Given the description of an element on the screen output the (x, y) to click on. 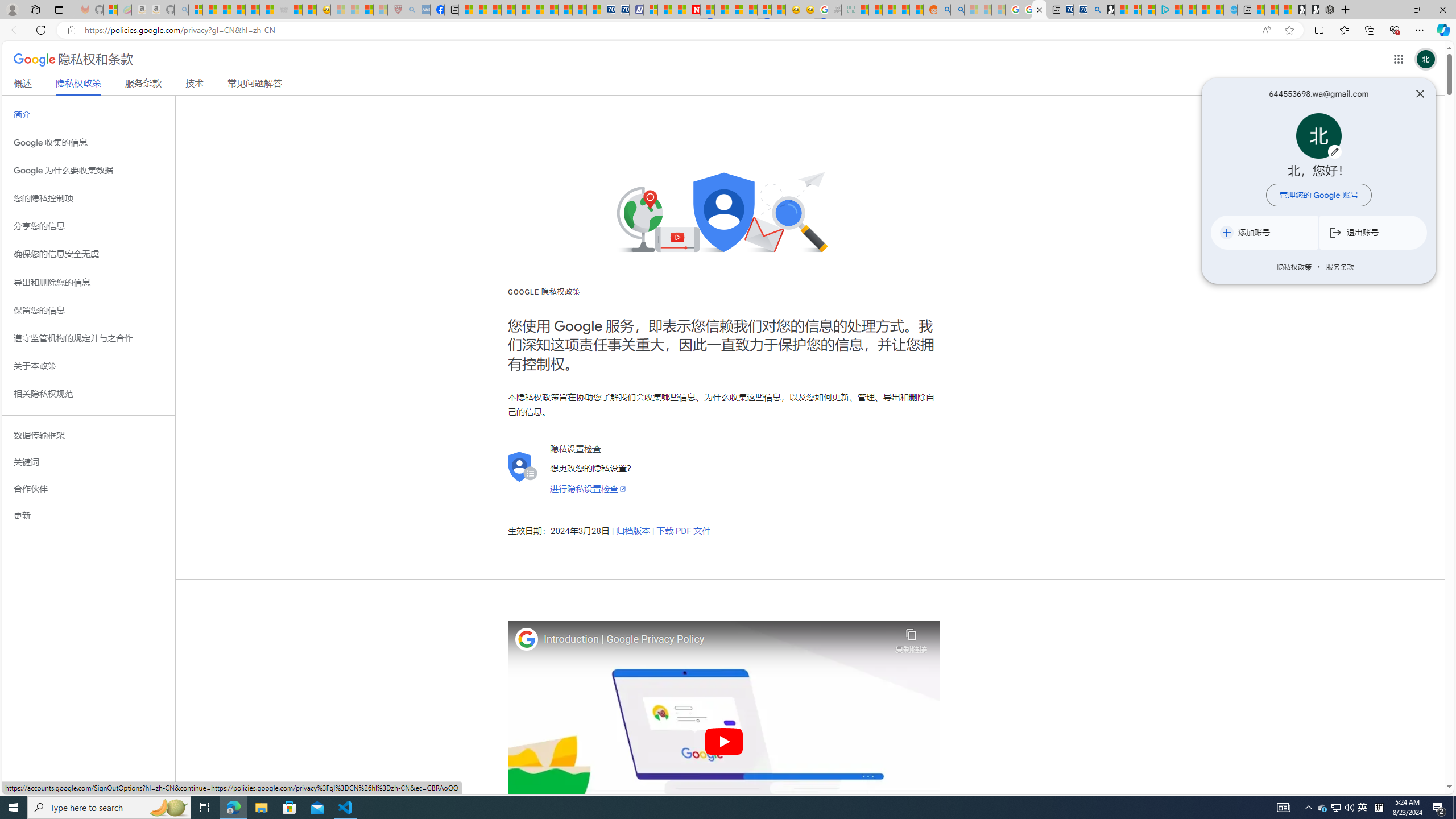
Cheap Hotels - Save70.com (622, 9)
Student Loan Update: Forgiveness Program Ends This Month (902, 9)
